Given the description of an element on the screen output the (x, y) to click on. 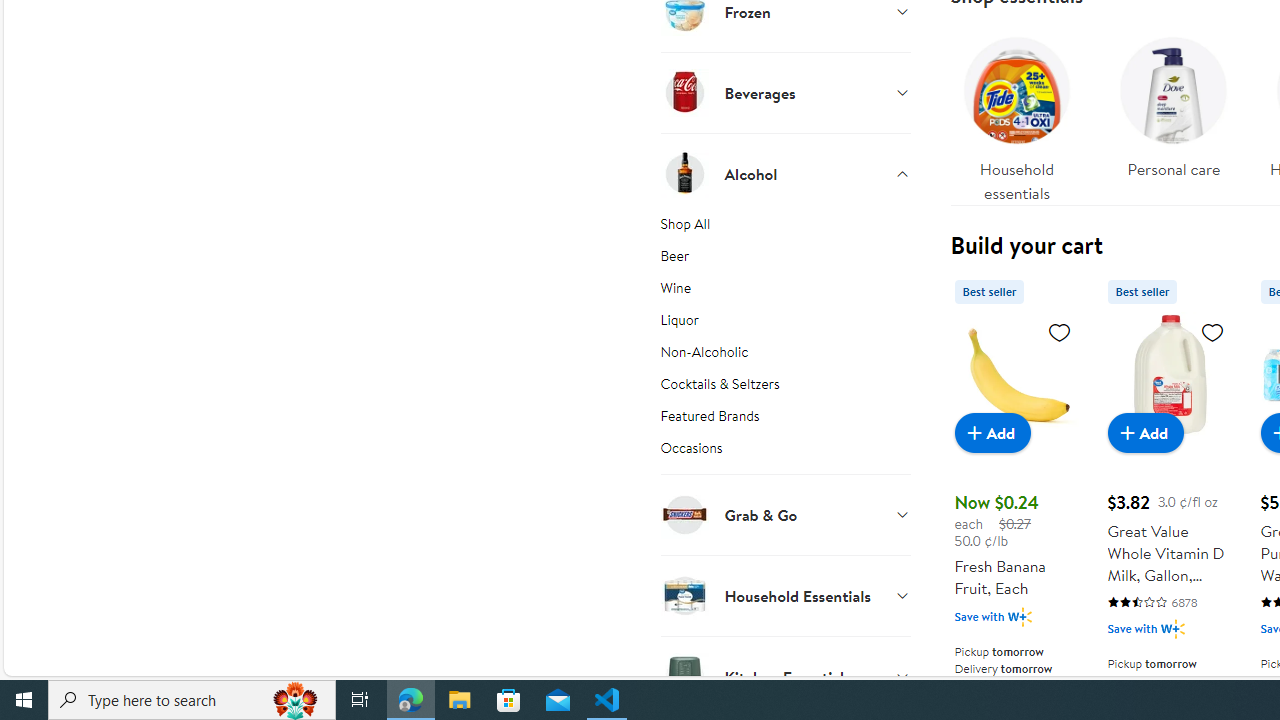
Non-Alcoholic (785, 356)
Shop All (785, 227)
Personal care (1173, 114)
Add to cart - Fresh Banana Fruit, Each (992, 431)
Personal care (1174, 101)
Featured Brands (785, 420)
Wine (785, 291)
Liquor (785, 323)
Household Essentials (785, 595)
Grab & Go (785, 514)
Walmart Plus (1172, 628)
